Given the description of an element on the screen output the (x, y) to click on. 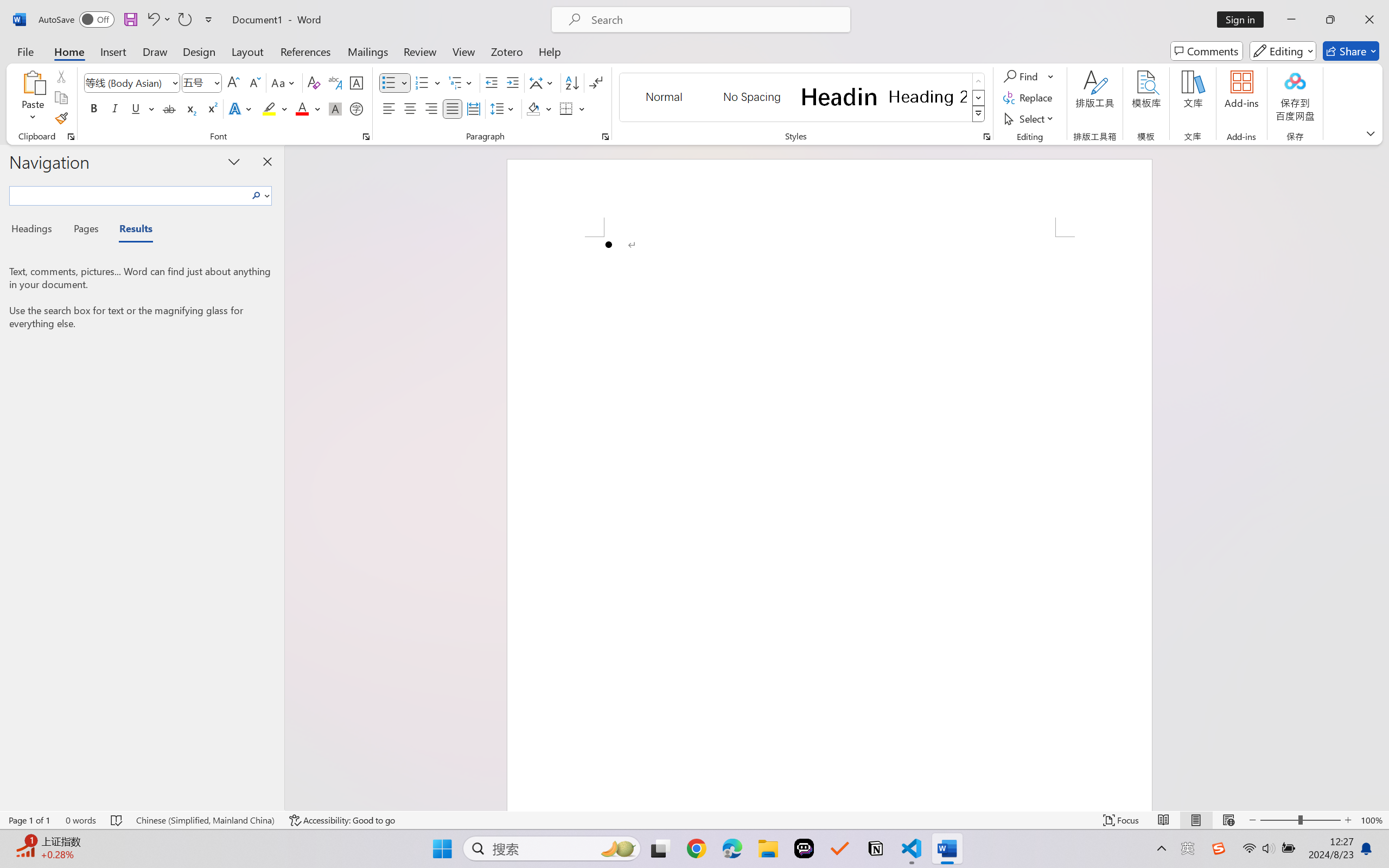
Sign in (1244, 19)
AutomationID: QuickStylesGallery (802, 97)
